Given the description of an element on the screen output the (x, y) to click on. 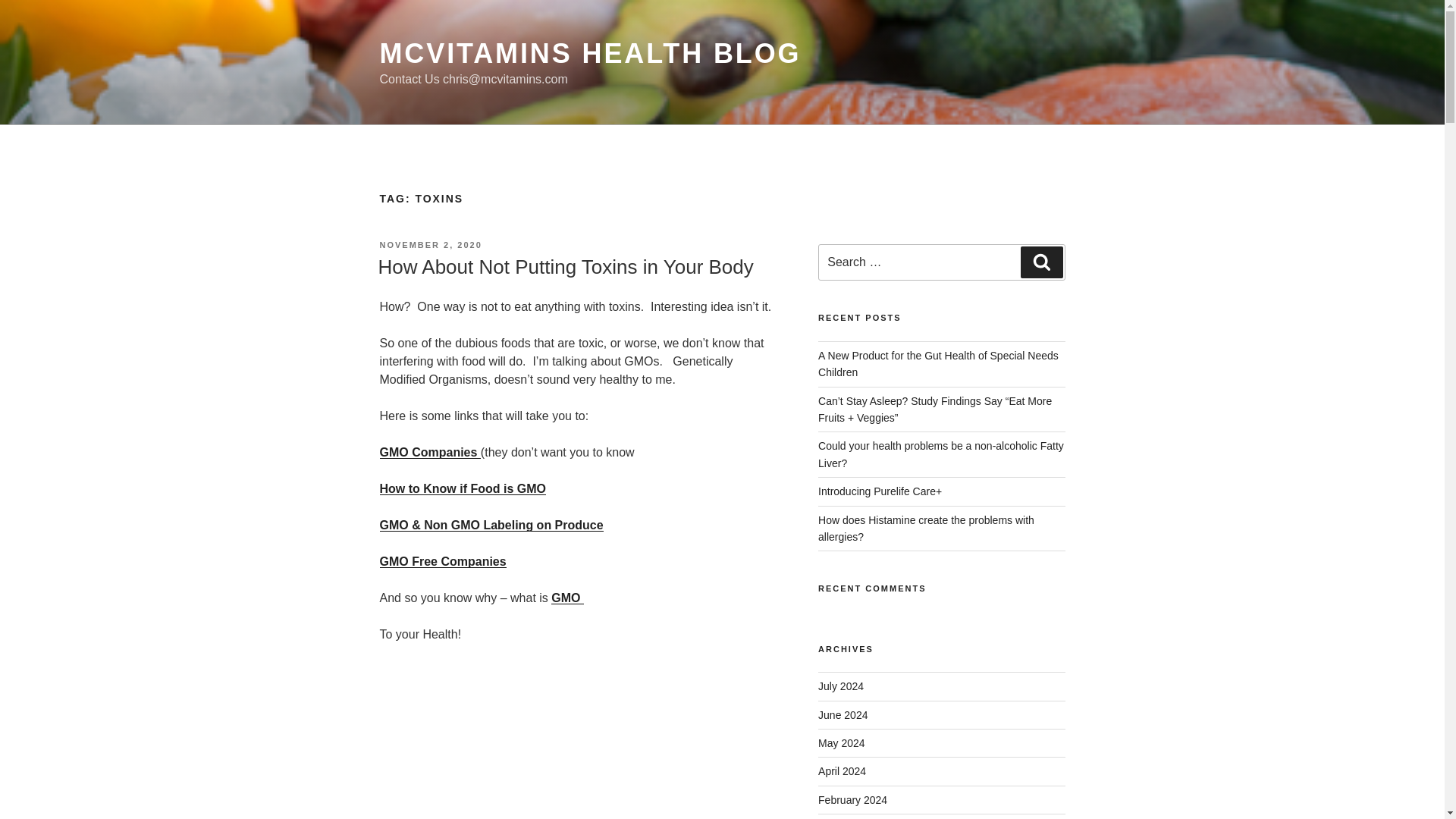
GMO Companies (429, 451)
GMO  (567, 597)
July 2024 (840, 686)
Could your health problems be a non-alcoholic Fatty Liver? (941, 453)
MCVITAMINS HEALTH BLOG (589, 52)
April 2024 (842, 770)
May 2024 (841, 743)
How About Not Putting Toxins in Your Body (564, 266)
Search (1041, 262)
How to Know if Food is GMO (462, 488)
